Given the description of an element on the screen output the (x, y) to click on. 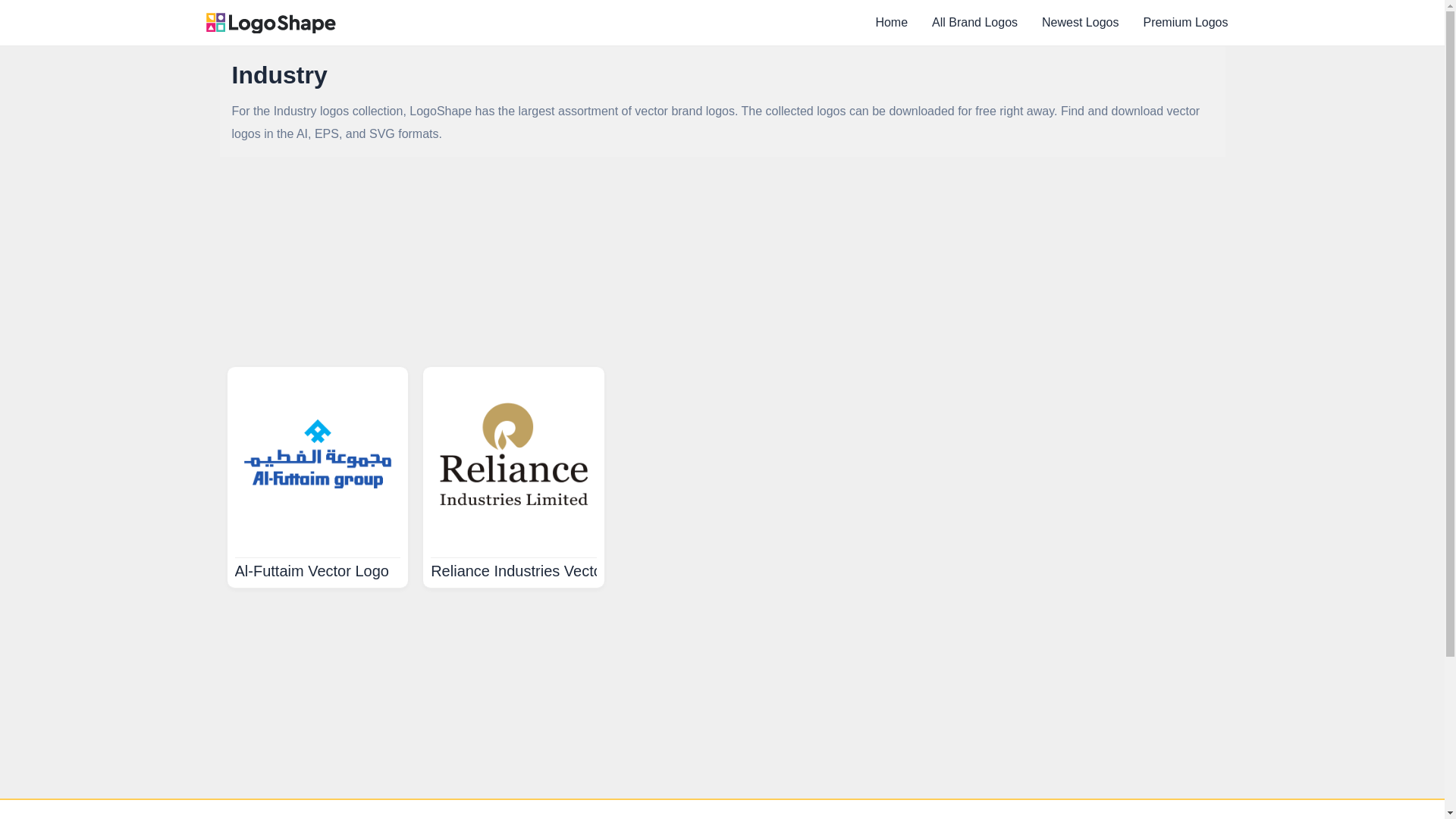
Newest Logos (1080, 22)
All Brand Logos (974, 22)
Reliance Industries Vector Logo (537, 570)
Premium Logos (1185, 22)
Home (891, 22)
Al-Futtaim Vector Logo (311, 570)
